Given the description of an element on the screen output the (x, y) to click on. 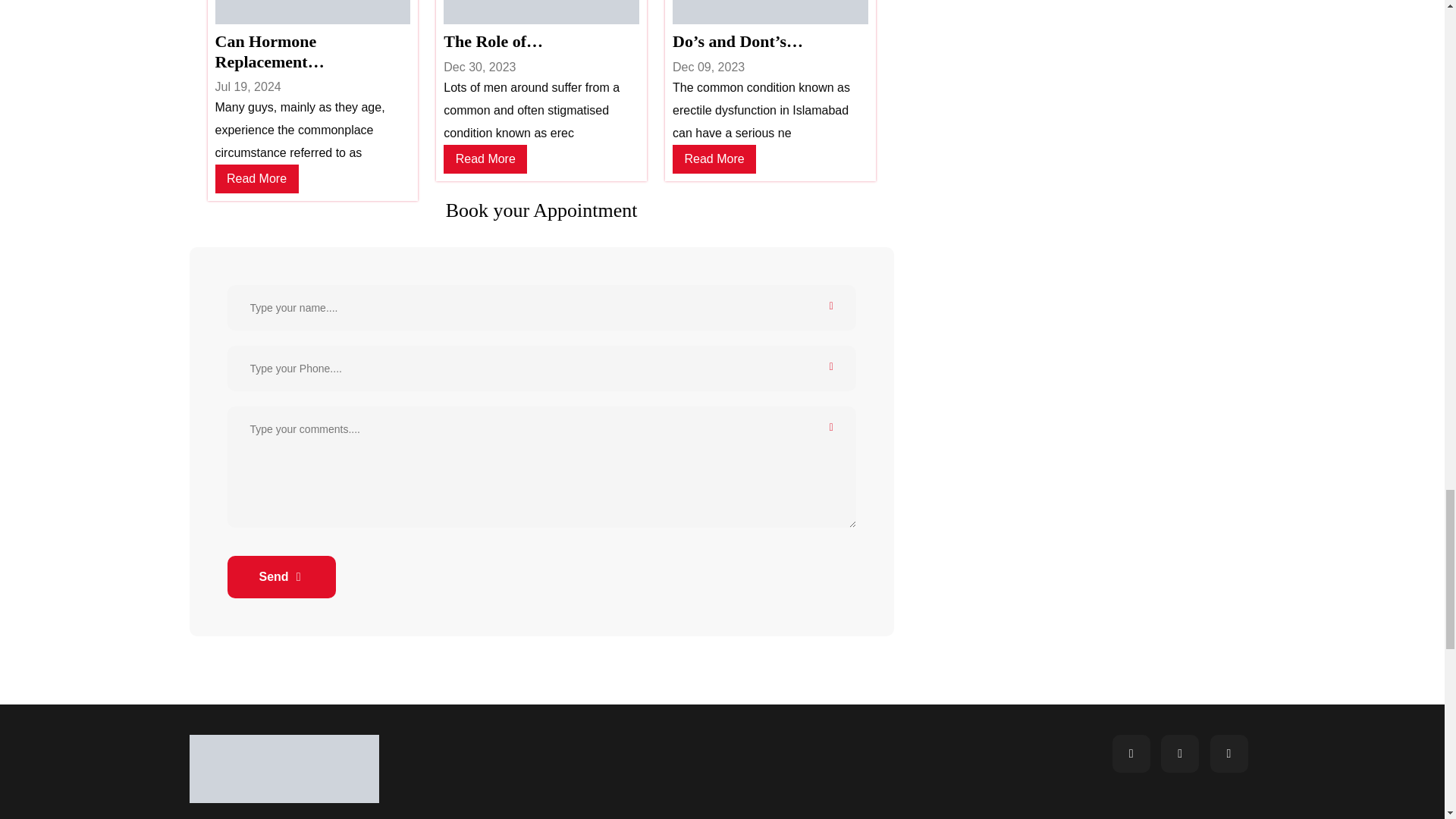
The Role of Genetics in Erectile Dysfunction (541, 41)
